Given the description of an element on the screen output the (x, y) to click on. 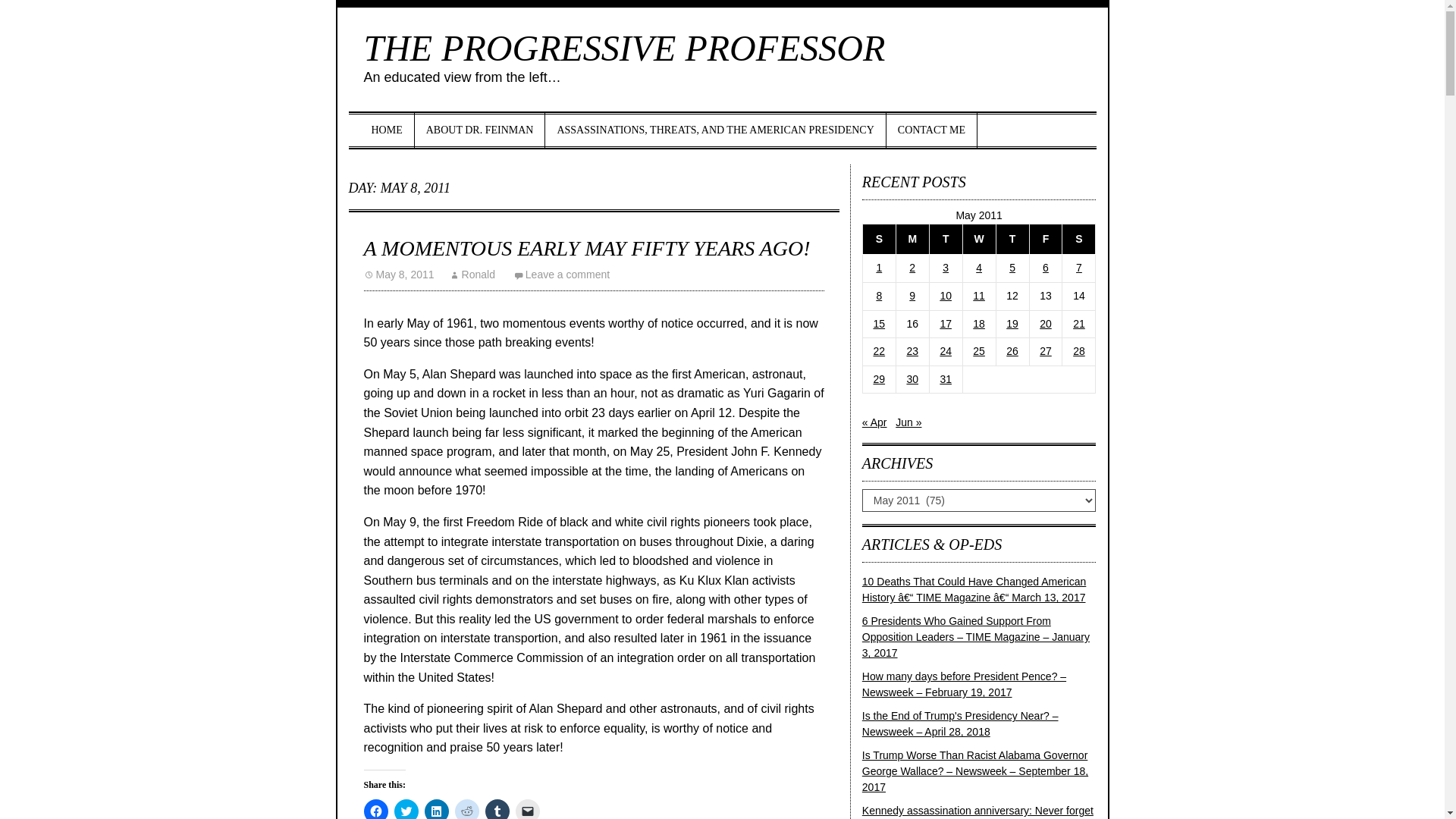
Click to share on Facebook (376, 809)
Leave a comment (561, 274)
ABOUT DR. FEINMAN (480, 130)
Click to email a link to a friend (527, 809)
CONTACT ME (931, 130)
Home (386, 130)
8:36 pm (398, 274)
THE PROGRESSIVE PROFESSOR (624, 47)
Assassinations, Threats, and the American Presidency (714, 130)
HOME (386, 130)
Click to share on Tumblr (496, 809)
Contact Me (931, 130)
Click to share on Twitter (406, 809)
ASSASSINATIONS, THREATS, AND THE AMERICAN PRESIDENCY (714, 130)
Click to share on Reddit (466, 809)
